Given the description of an element on the screen output the (x, y) to click on. 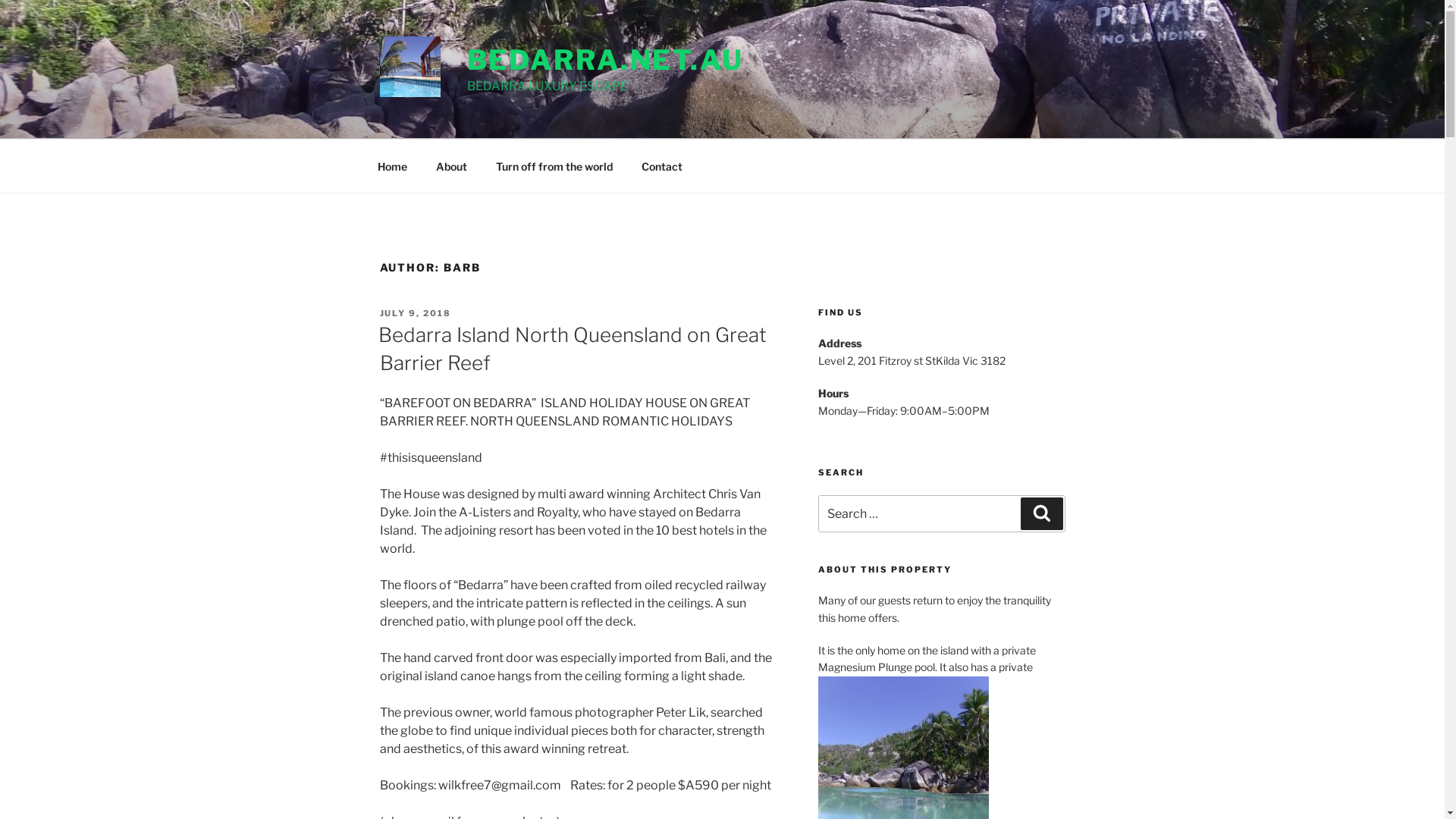
Home Element type: text (392, 165)
Search Element type: text (1041, 513)
About Element type: text (451, 165)
JULY 9, 2018 Element type: text (415, 312)
Bedarra Island North Queensland on Great Barrier Reef Element type: text (571, 348)
Contact Element type: text (661, 165)
Turn off from the world Element type: text (553, 165)
BEDARRA.NET.AU Element type: text (605, 59)
